Given the description of an element on the screen output the (x, y) to click on. 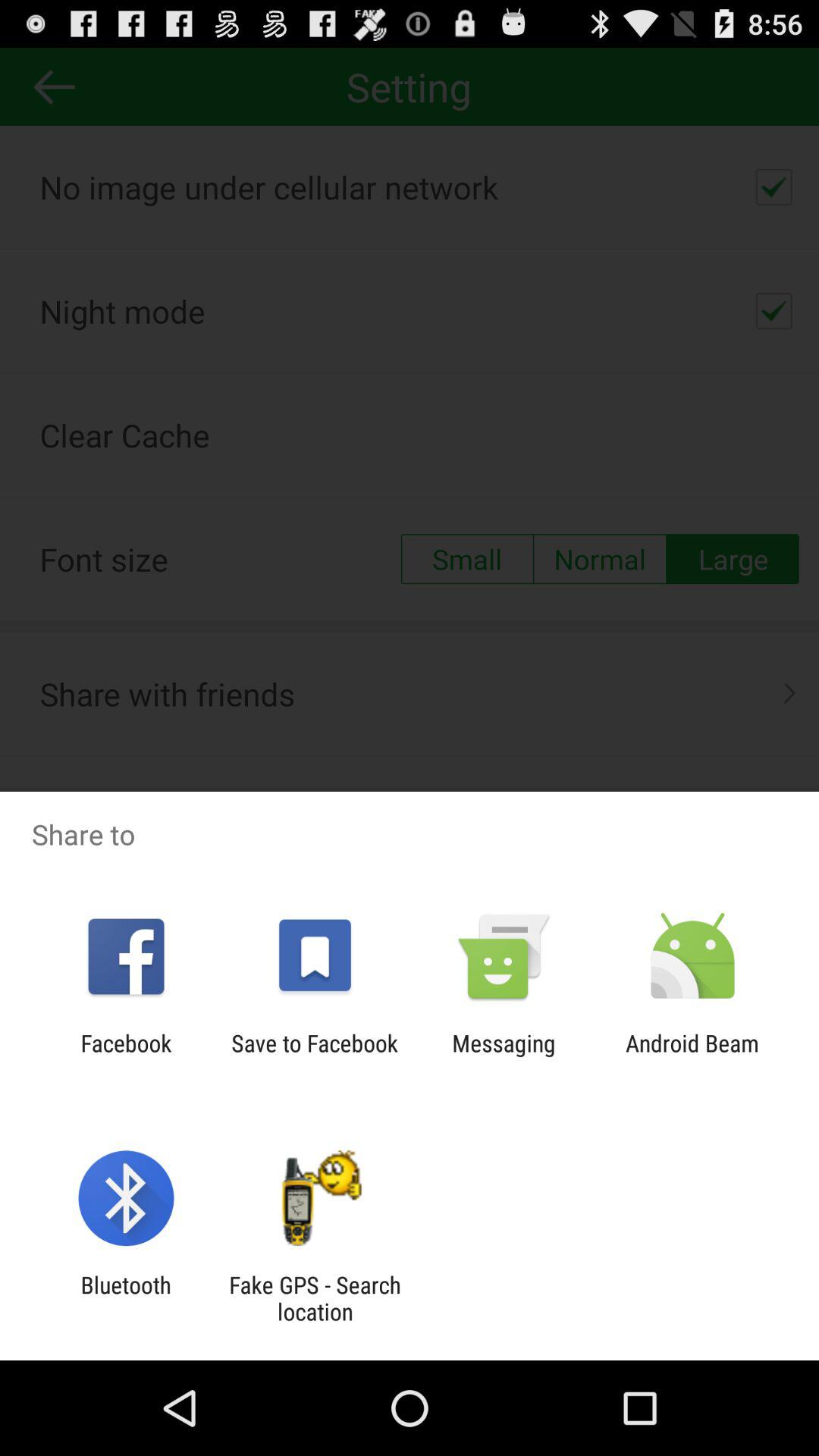
scroll until bluetooth icon (125, 1298)
